Given the description of an element on the screen output the (x, y) to click on. 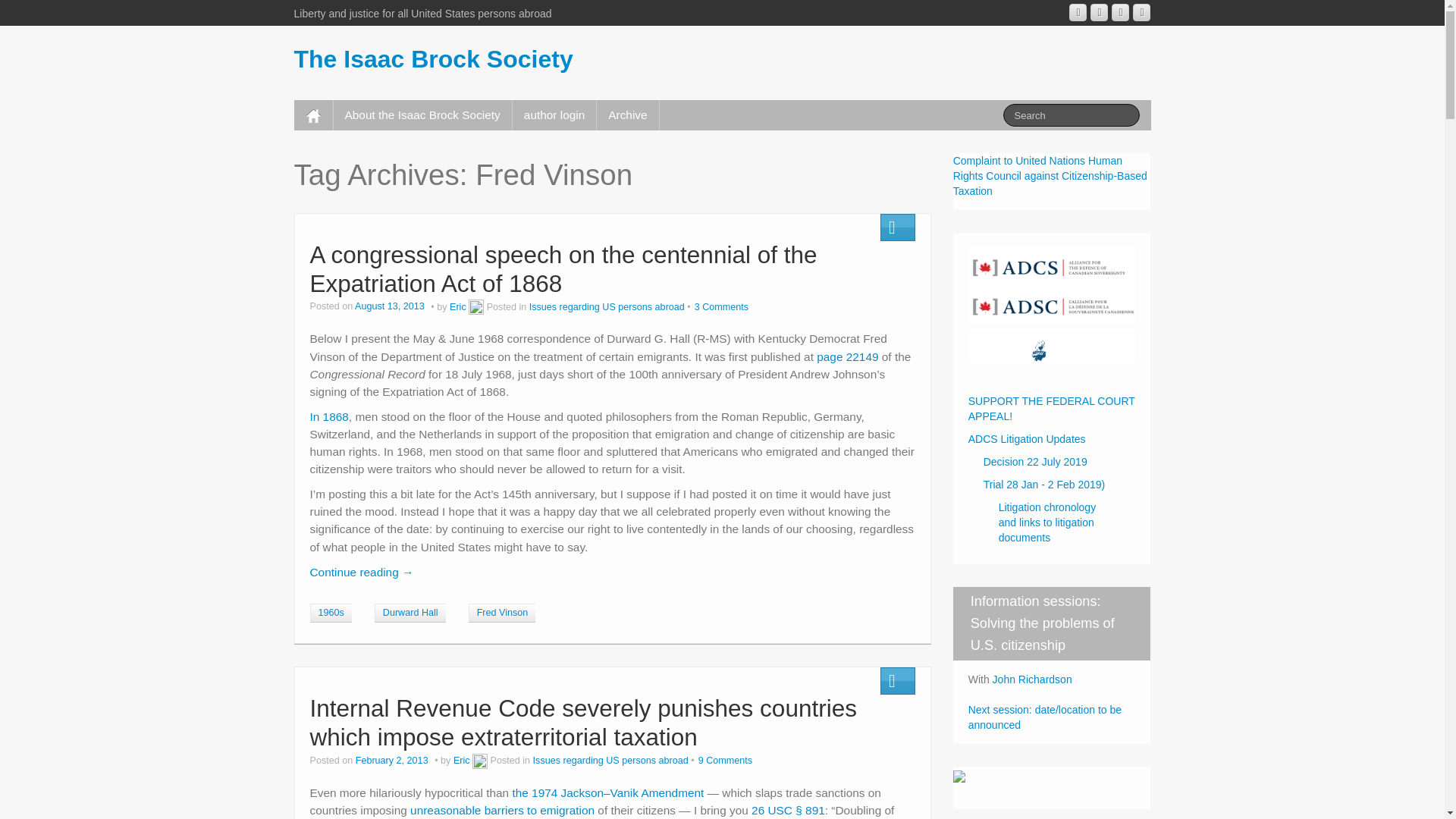
Eric (457, 307)
Issues regarding US persons abroad (610, 760)
The Isaac Brock Society Googleplus (1077, 12)
3 Comments (721, 307)
The Isaac Brock Society Twitter (1141, 12)
The Isaac Brock Society (433, 58)
February 2, 2013 (392, 760)
